Given the description of an element on the screen output the (x, y) to click on. 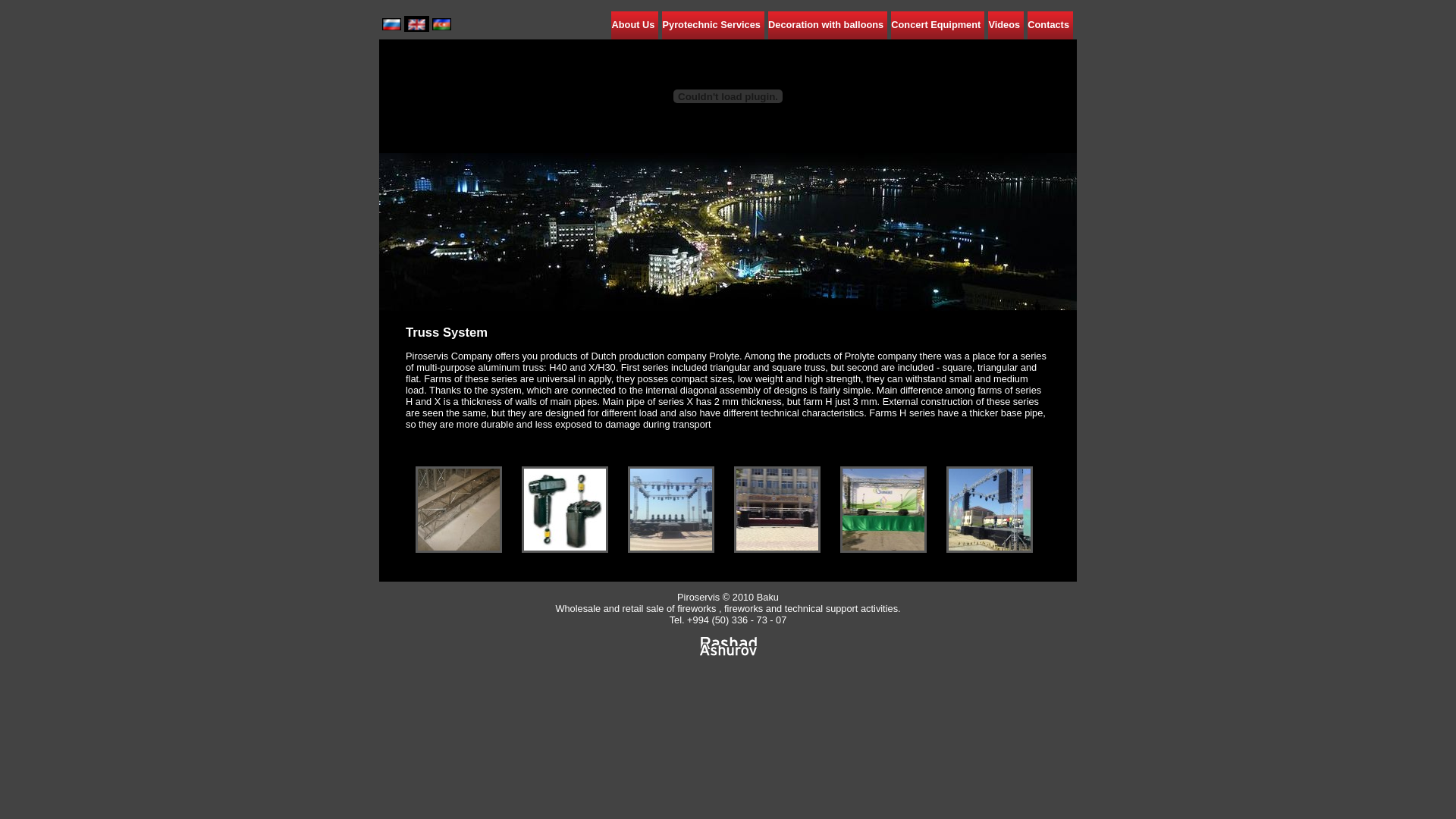
PYROSERVIS Element type: hover (458, 549)
PYROSERVIS Element type: hover (670, 549)
Decoration with balloons Element type: text (827, 25)
About Us Element type: text (634, 25)
PYROSERVIS Element type: hover (564, 549)
Contacts Element type: text (1050, 25)
PYROSERVIS Element type: hover (989, 549)
Pyrotechnic Services Element type: text (713, 25)
Concert Equipment Element type: text (937, 25)
Videos Element type: text (1005, 25)
PYROSERVIS Element type: hover (777, 549)
PYROSERVIS Element type: hover (883, 549)
